Given the description of an element on the screen output the (x, y) to click on. 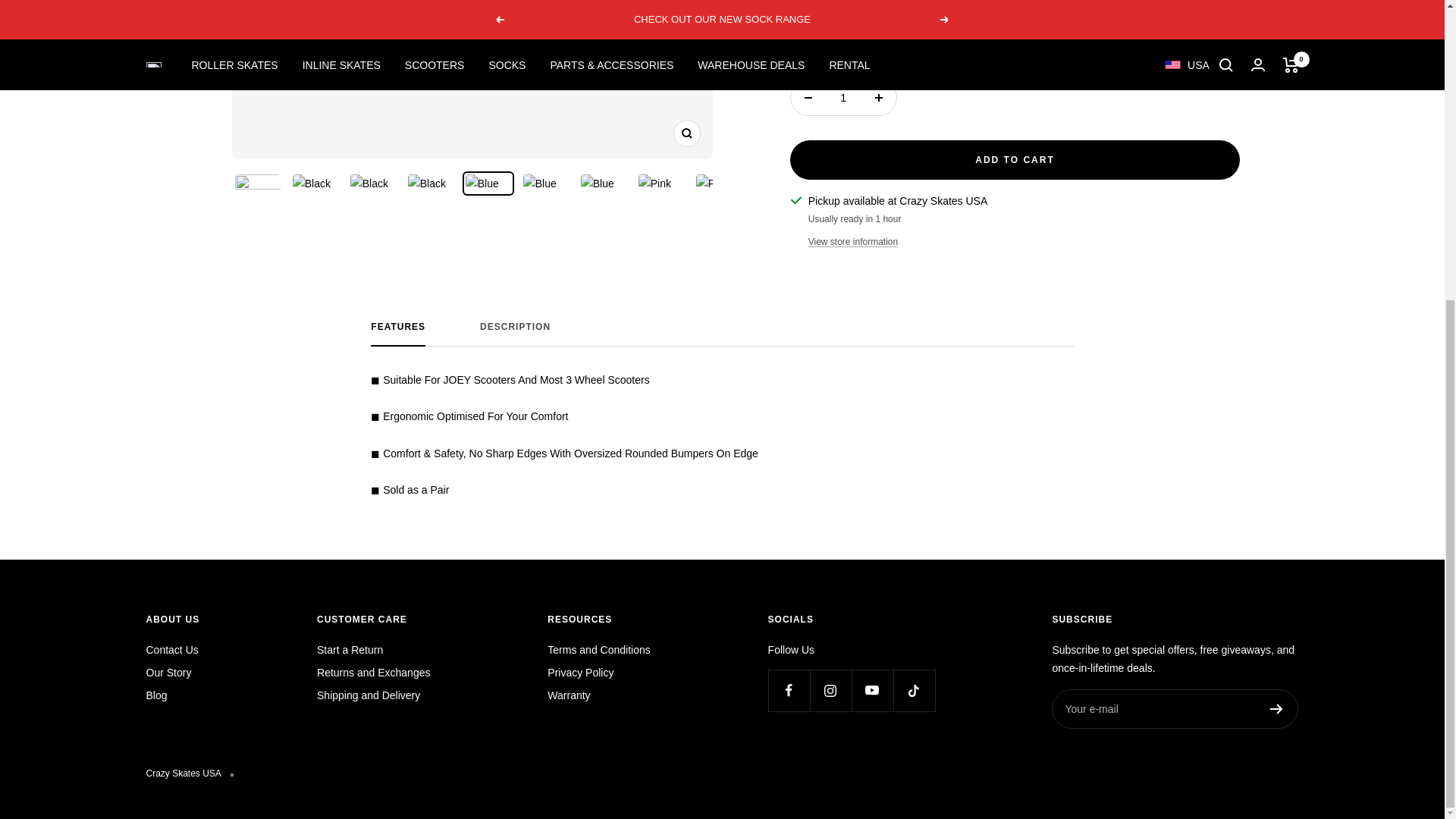
Zoom (686, 133)
Register (1275, 708)
1 (843, 97)
